Given the description of an element on the screen output the (x, y) to click on. 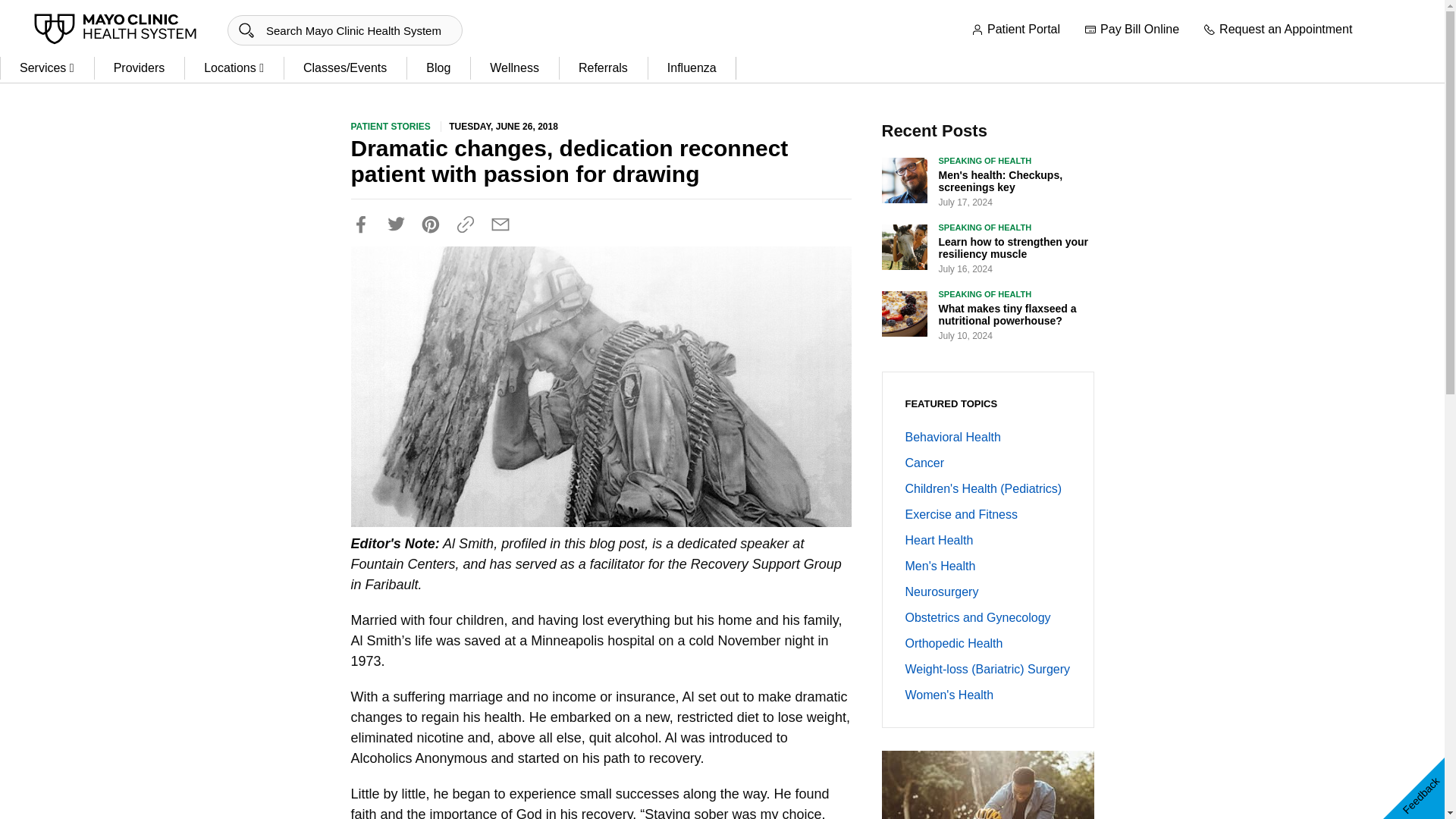
Patient Portal (1015, 30)
Request an Appointment (1278, 30)
Providers (139, 68)
Pay Bill Online (1131, 30)
